Given the description of an element on the screen output the (x, y) to click on. 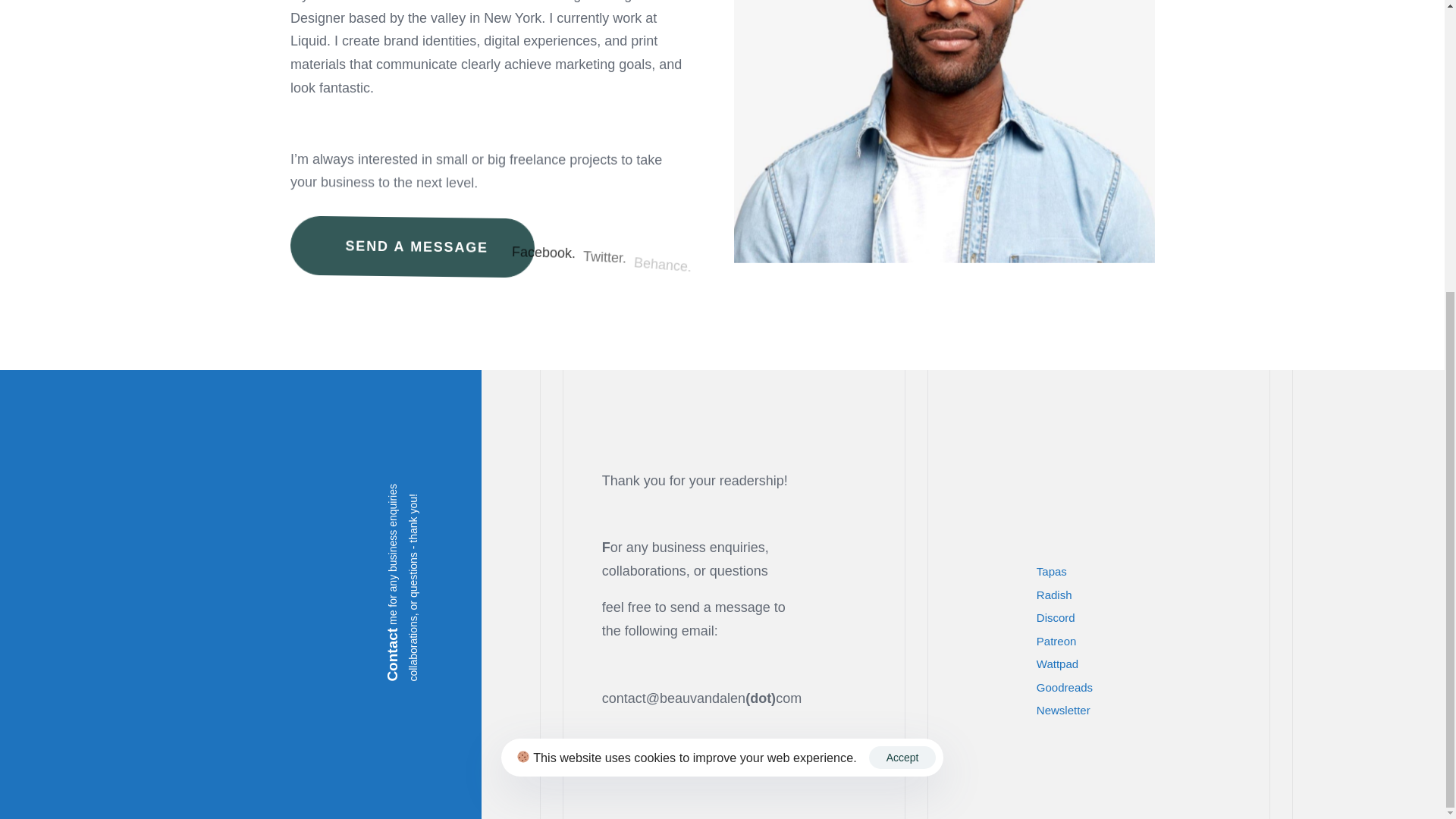
Facebook. (411, 245)
Goodreads (543, 252)
Patreon (1149, 687)
Accept (1149, 641)
Twitter. (902, 312)
Tapas (604, 256)
Wattpad (1149, 571)
Discord (1149, 664)
Radish (1149, 618)
Behance. (1149, 595)
Newsletter (661, 263)
